Given the description of an element on the screen output the (x, y) to click on. 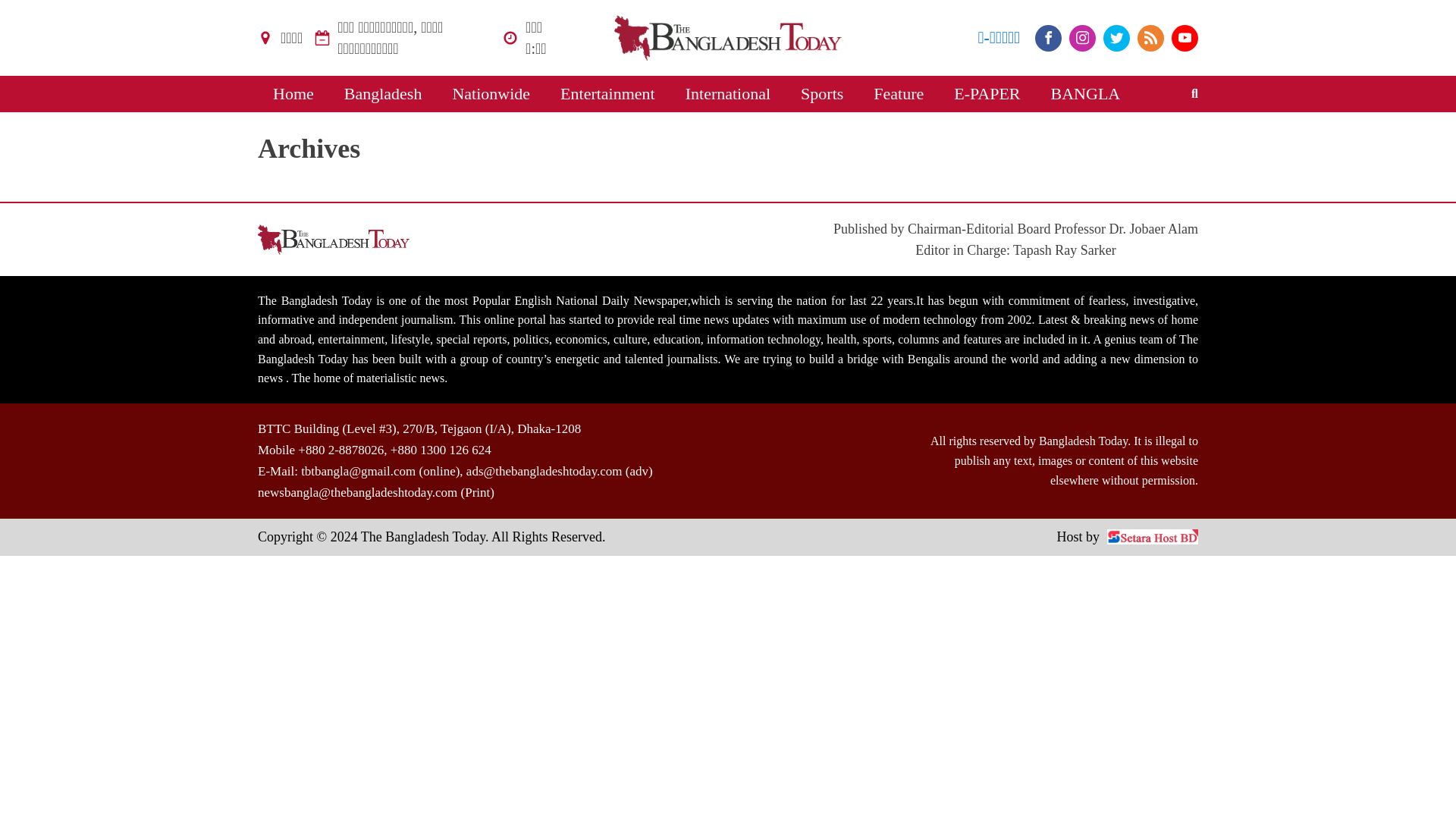
Sports (822, 94)
Feature (899, 94)
Bangladesh (383, 94)
BANGLA (1085, 94)
International (727, 94)
E-PAPER (987, 94)
Nationwide (490, 94)
Entertainment (606, 94)
Home (293, 94)
